Given the description of an element on the screen output the (x, y) to click on. 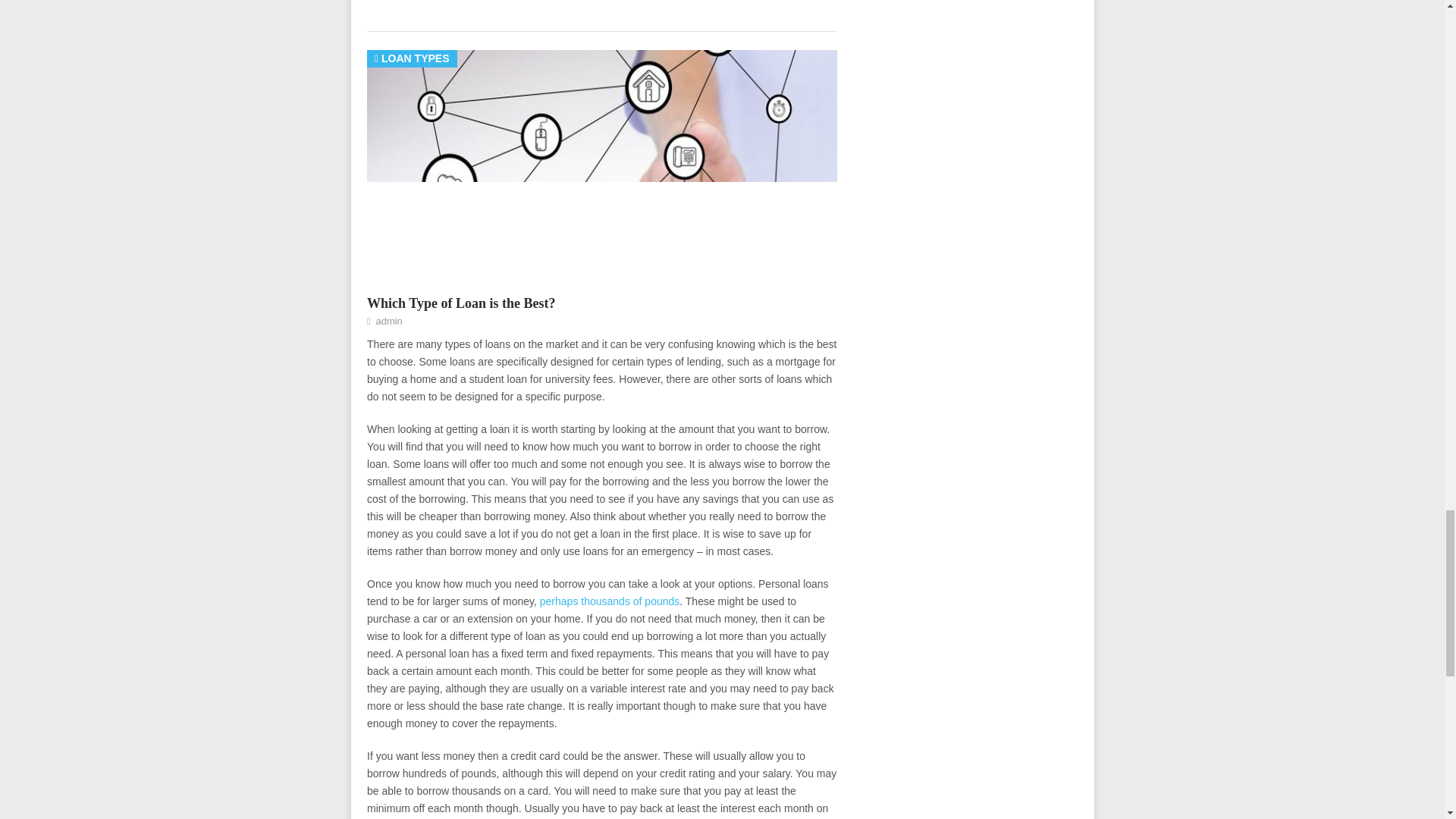
Which Type of Loan is the Best? (460, 303)
Which Type of Loan is the Best? (460, 303)
Posts by admin (388, 320)
perhaps thousands of pounds (609, 601)
admin (388, 320)
